Given the description of an element on the screen output the (x, y) to click on. 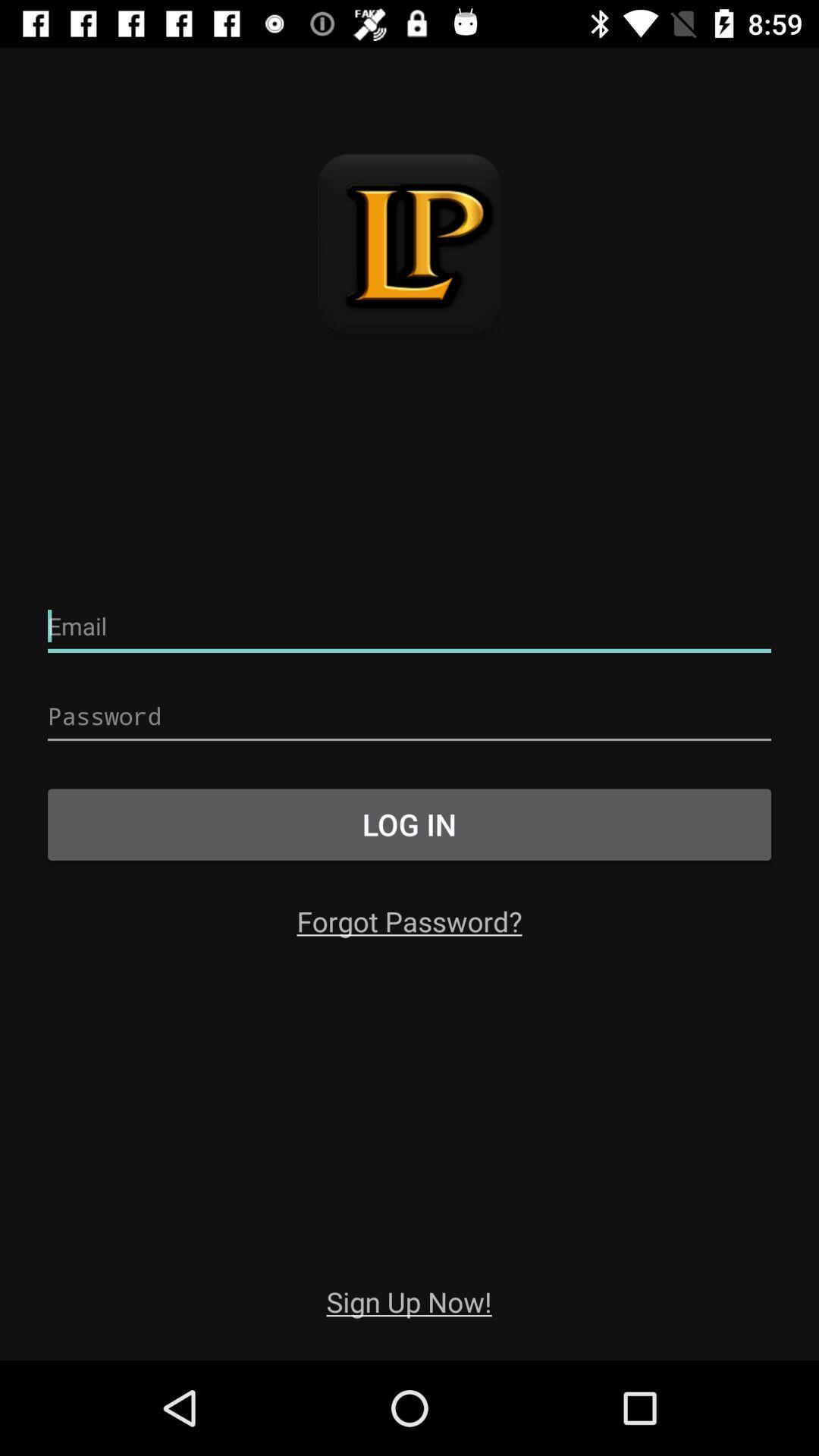
choose the icon above the forgot password? item (409, 824)
